Given the description of an element on the screen output the (x, y) to click on. 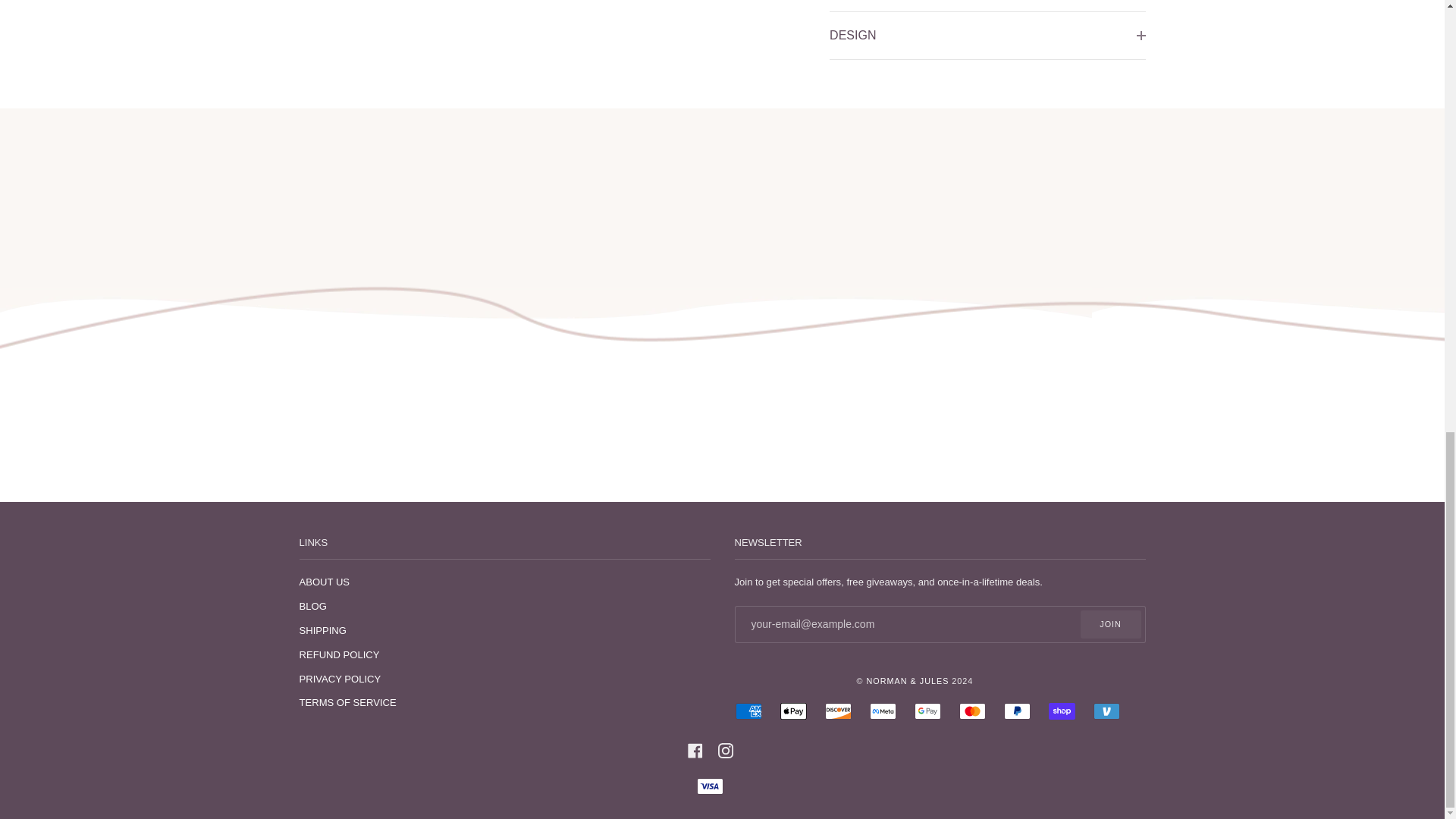
Facebook (694, 749)
Instagram (724, 749)
